Given the description of an element on the screen output the (x, y) to click on. 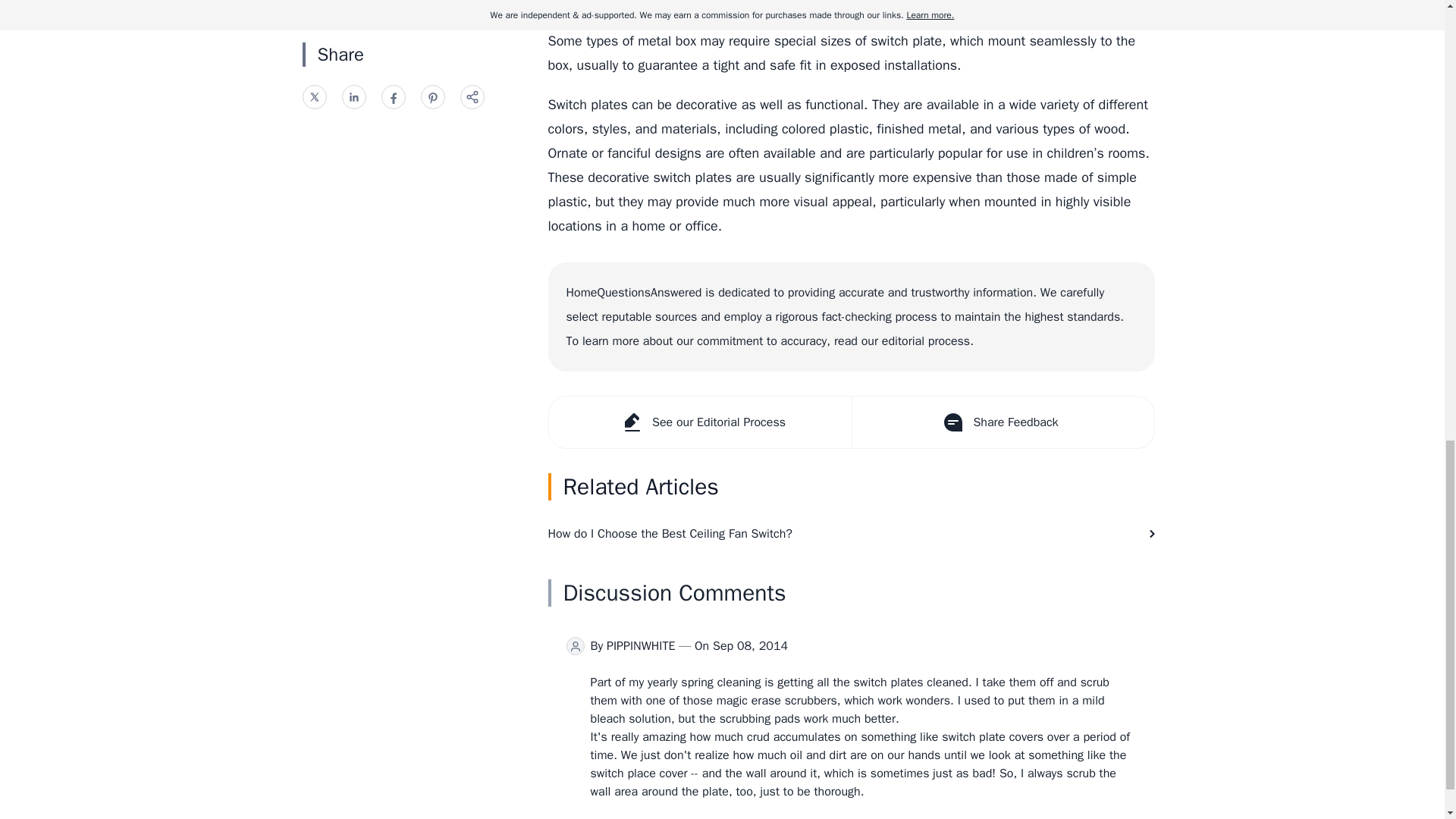
Share Feedback (1001, 421)
See our Editorial Process (699, 421)
How do I Choose the Best Ceiling Fan Switch? (850, 533)
